Given the description of an element on the screen output the (x, y) to click on. 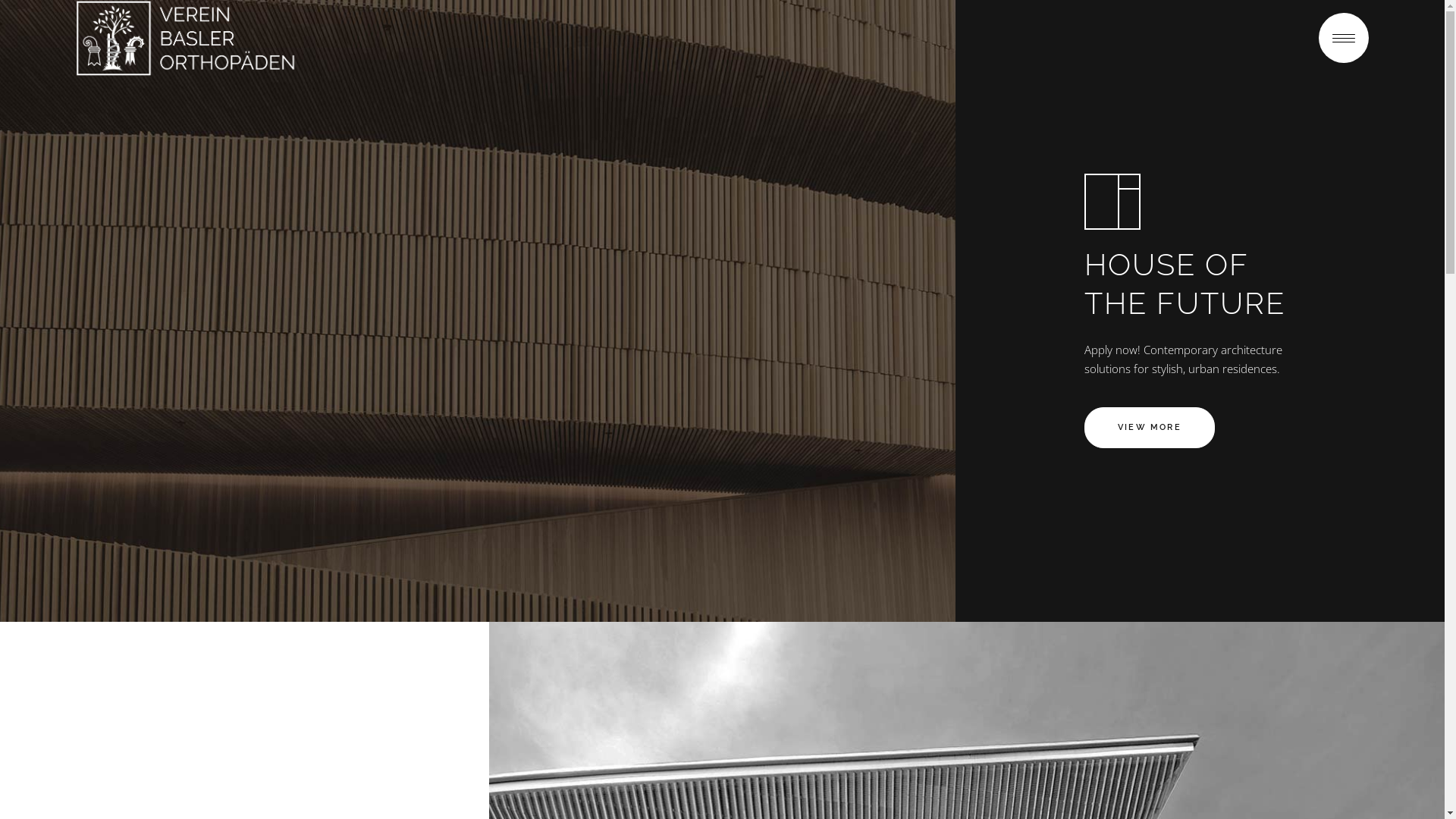
VIEW MORE Element type: text (1149, 427)
